Given the description of an element on the screen output the (x, y) to click on. 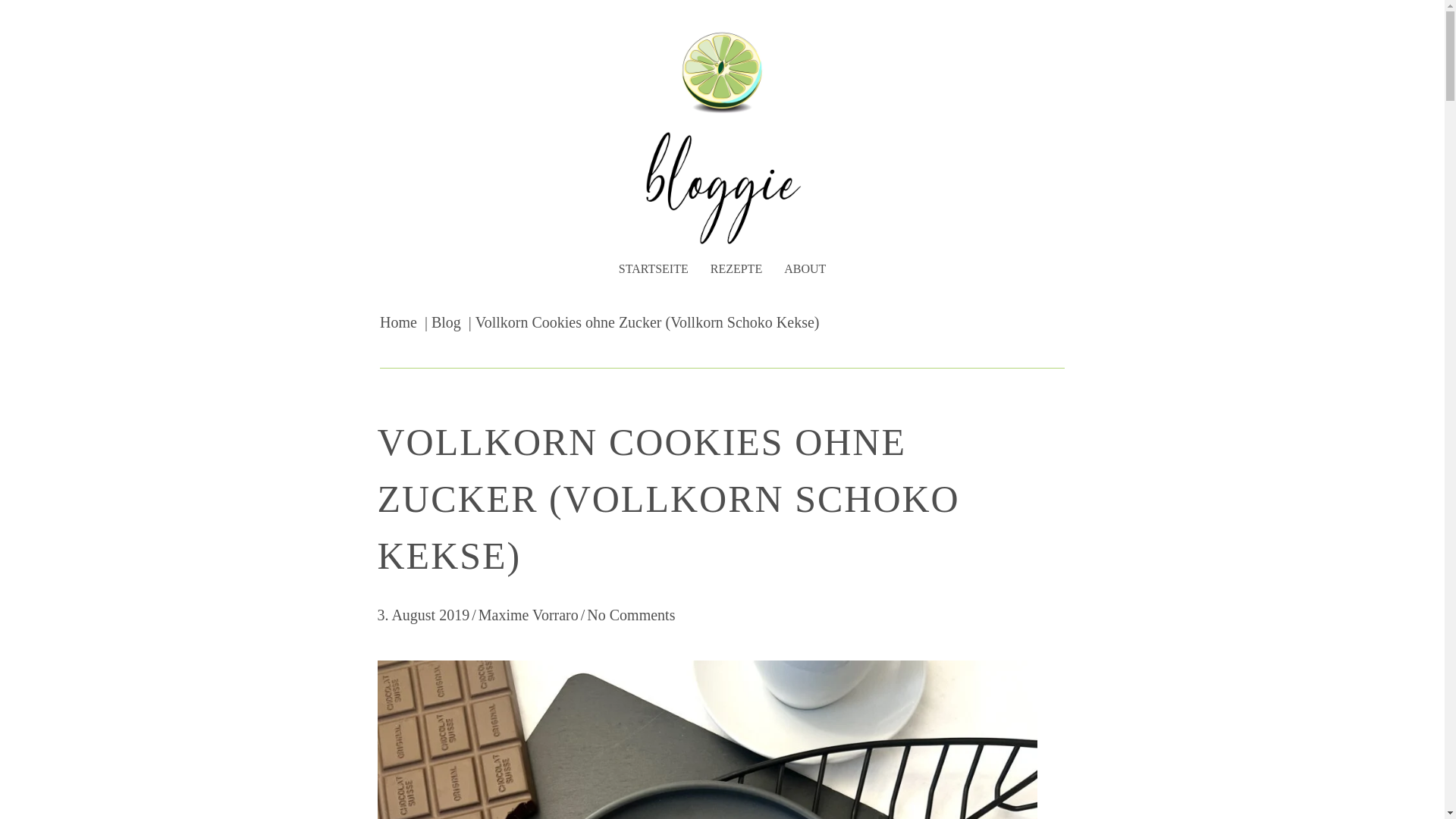
No Comments Element type: text (630, 614)
ABOUT Element type: text (804, 268)
REZEPTE Element type: text (735, 268)
Cropped Logo Bloggie.png Element type: hover (721, 71)
STARTSEITE Element type: text (653, 268)
Maxime Vorraro Element type: text (528, 614)
bloggie schriftzug Element type: hover (721, 187)
Blog Element type: text (446, 321)
Home Element type: text (398, 321)
